Given the description of an element on the screen output the (x, y) to click on. 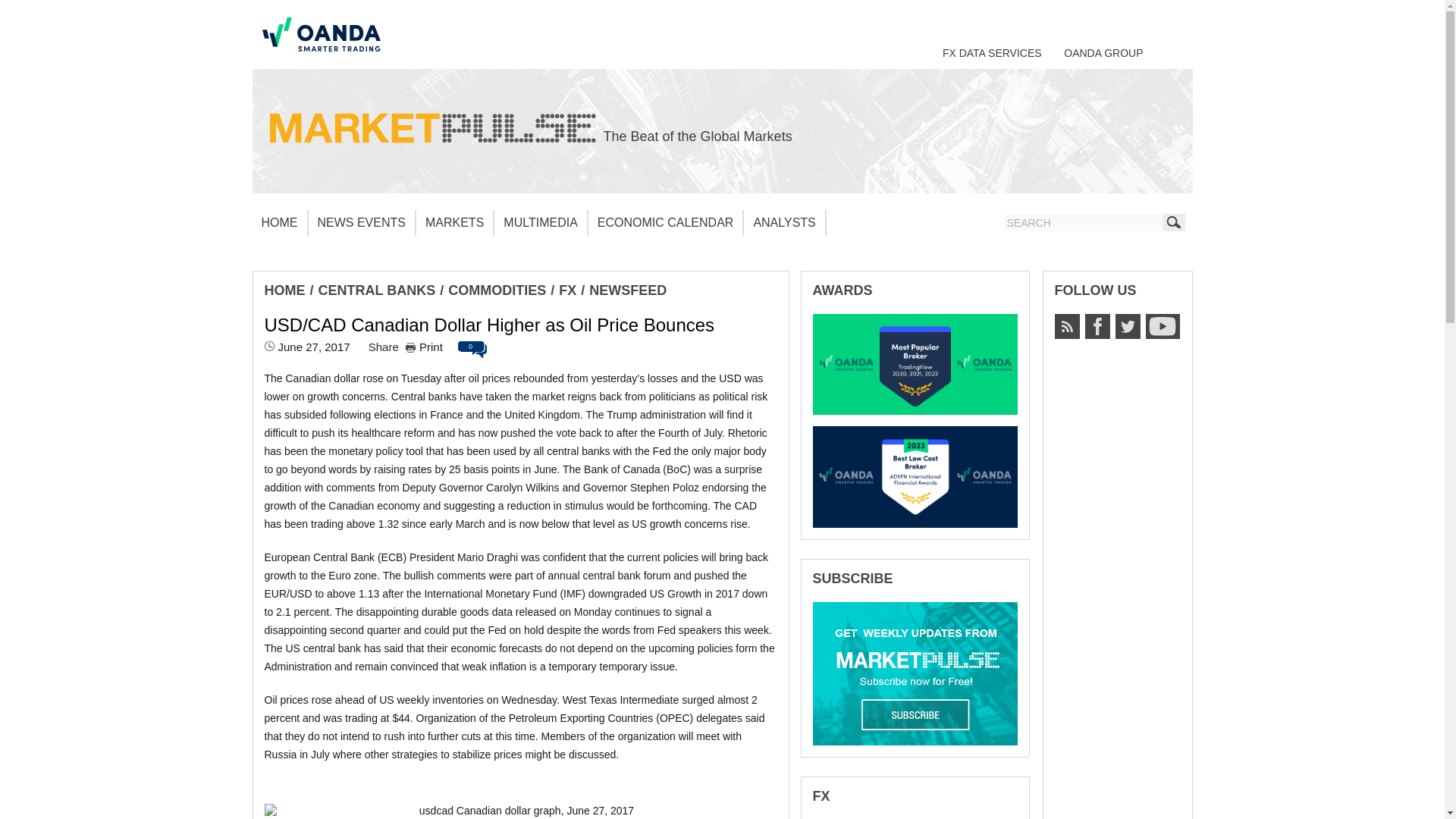
NEWS EVENTS (360, 222)
CENTRAL BANKS (376, 290)
NEWSFEED (627, 290)
Find (1173, 221)
Facebook (1096, 326)
RSS (1066, 326)
ECONOMIC CALENDAR (666, 222)
ANALYSTS (784, 222)
HOME (283, 290)
FX DATA SERVICES (992, 52)
Twitter (1127, 326)
Print (424, 346)
Share (383, 346)
HOME (279, 222)
COMMODITIES (497, 290)
